Given the description of an element on the screen output the (x, y) to click on. 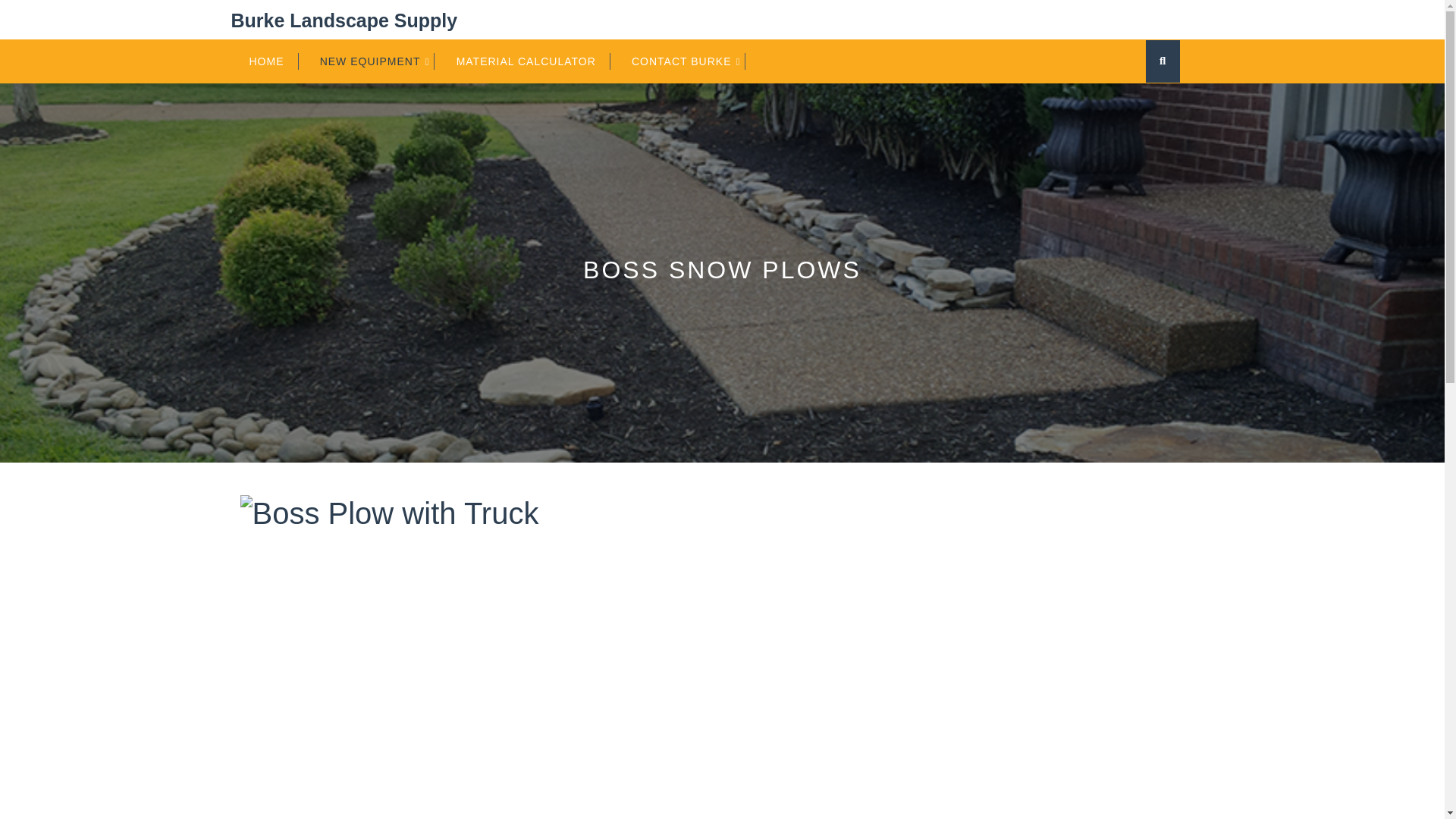
Burke Landscape Supply (343, 20)
MATERIAL CALCULATOR (533, 61)
CONTACT BURKE (688, 61)
NEW EQUIPMENT (377, 61)
HOME (273, 61)
